Given the description of an element on the screen output the (x, y) to click on. 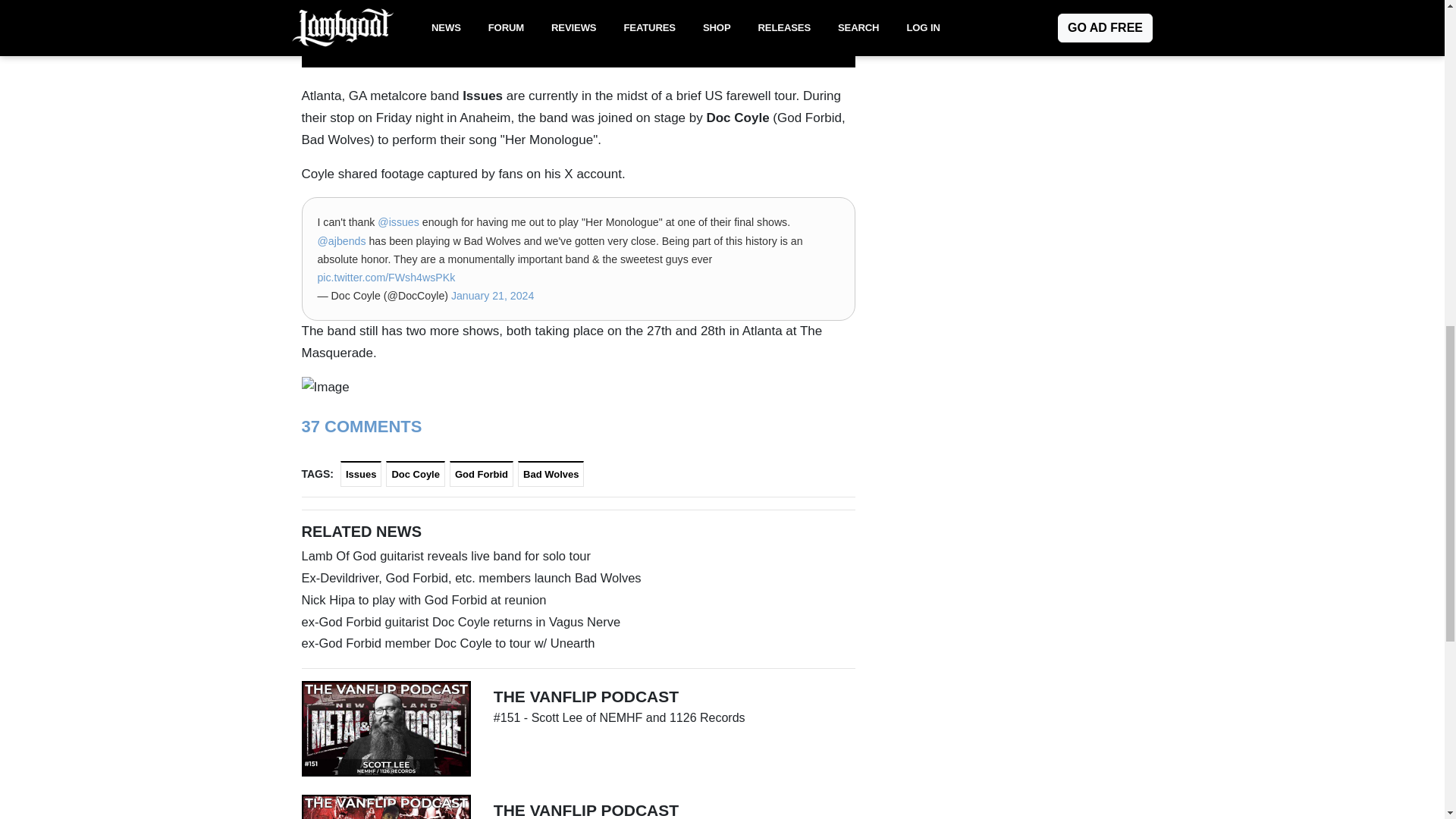
Ex-Devildriver, God Forbid, etc. members launch Bad Wolves (578, 578)
January 21, 2024 (492, 295)
Issues (360, 474)
Doc Coyle (415, 474)
God Forbid (481, 474)
37 COMMENTS (361, 425)
Nick Hipa to play with God Forbid at reunion (578, 599)
Lamb Of God guitarist reveals live band for solo tour (578, 556)
ex-God Forbid guitarist Doc Coyle returns in Vagus Nerve (578, 621)
Bad Wolves (550, 474)
